Given the description of an element on the screen output the (x, y) to click on. 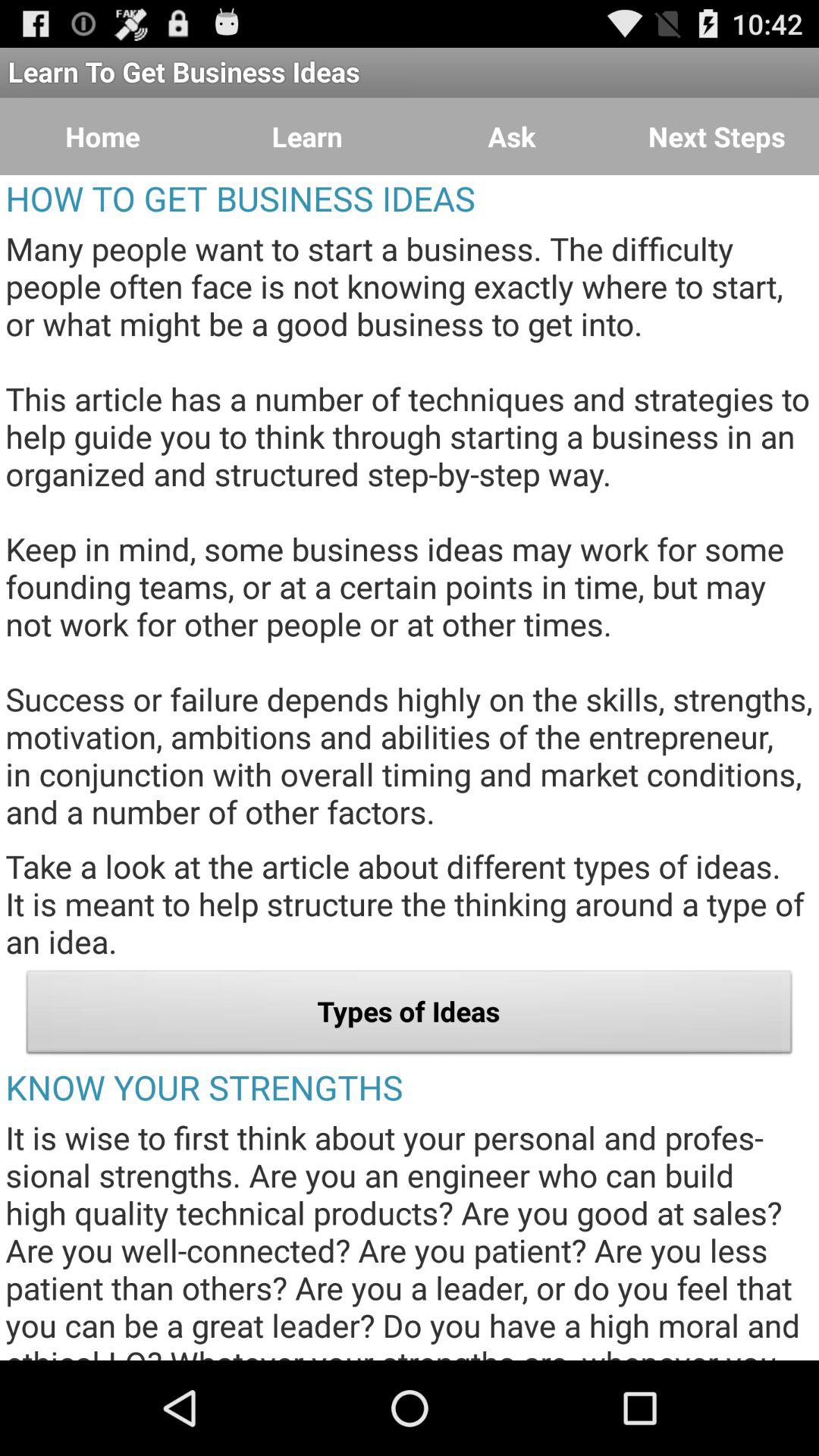
click the icon to the left of next steps icon (511, 136)
